Given the description of an element on the screen output the (x, y) to click on. 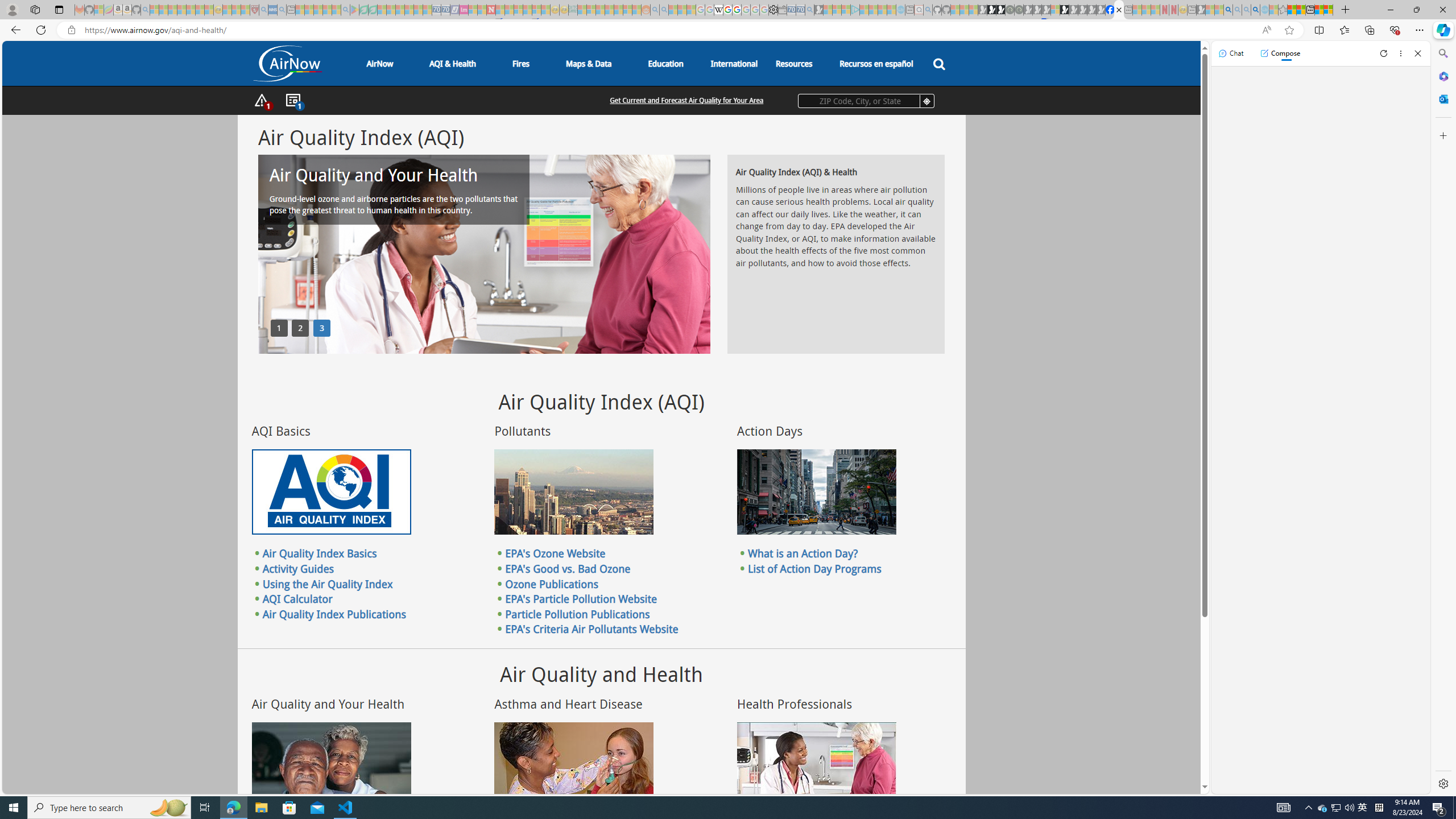
utah sues federal government - Search - Sleeping (281, 9)
github - Search - Sleeping (927, 9)
Privacy Help Center - Policies Help (726, 9)
